Given the description of an element on the screen output the (x, y) to click on. 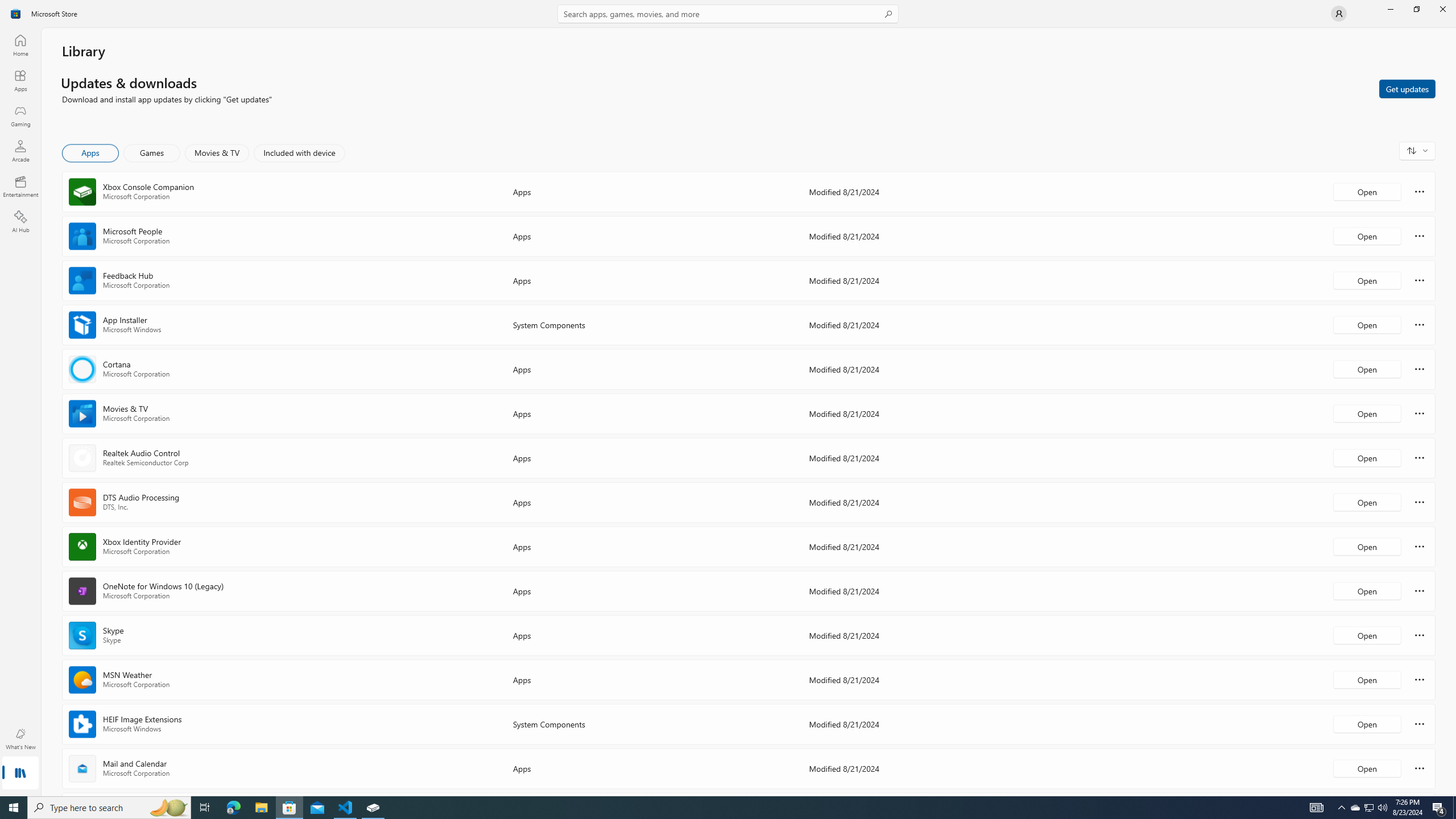
Included with device (299, 153)
Movies & TV (216, 153)
Sort and filter (1417, 149)
Games (151, 153)
